Given the description of an element on the screen output the (x, y) to click on. 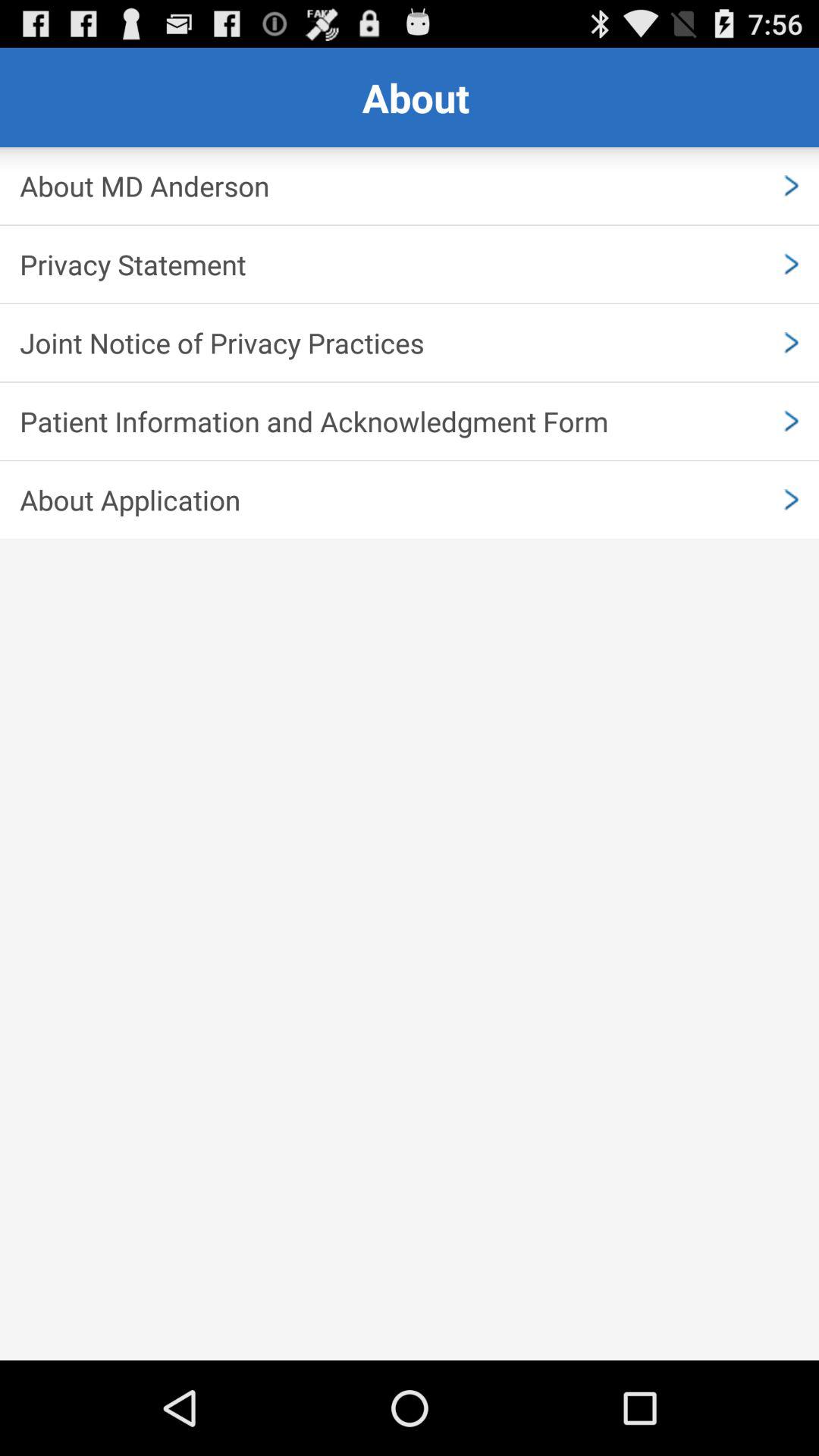
turn off privacy statement item (409, 264)
